Given the description of an element on the screen output the (x, y) to click on. 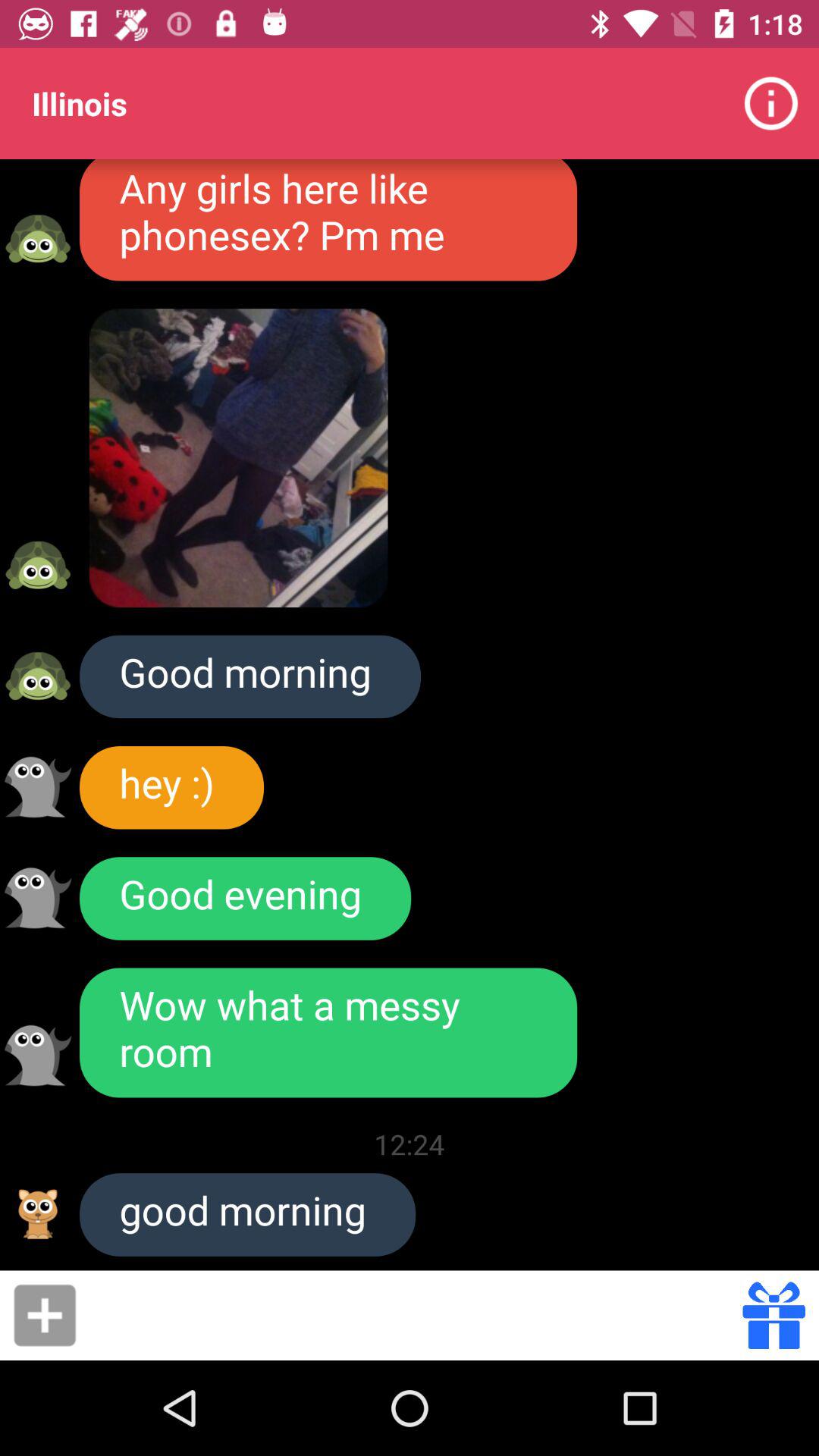
select profile (38, 897)
